Given the description of an element on the screen output the (x, y) to click on. 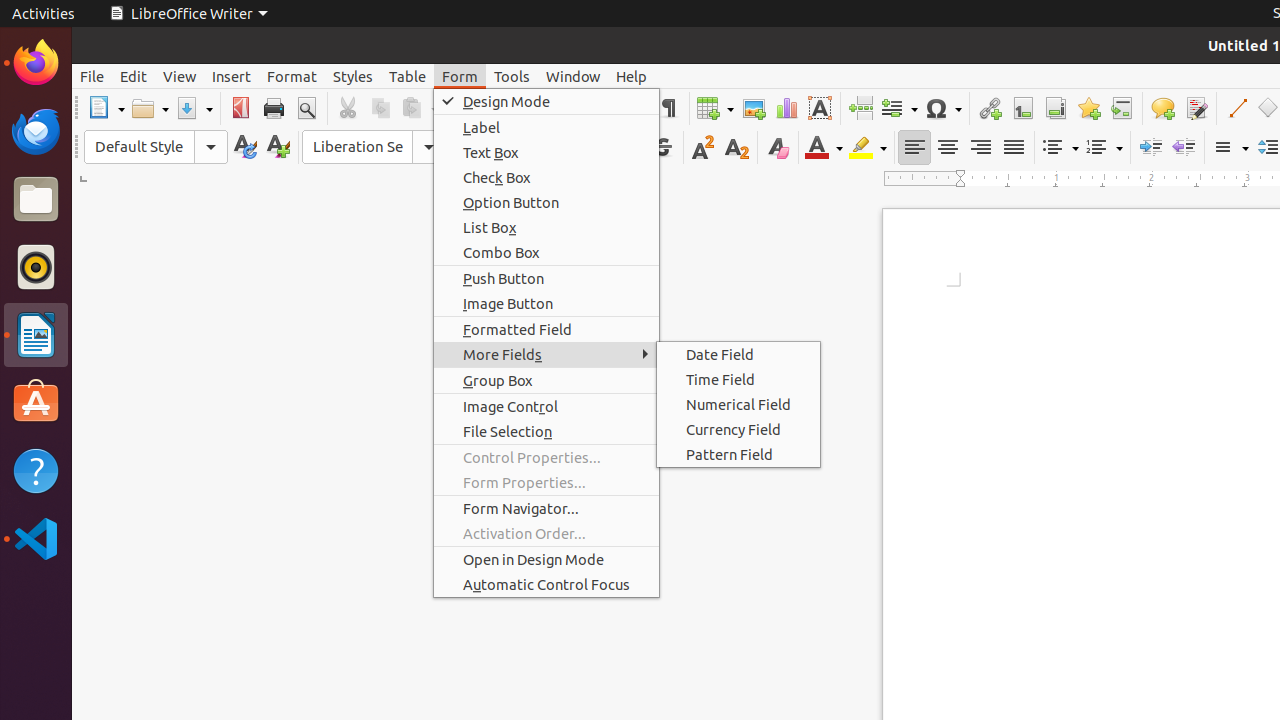
Footnote Element type: push-button (1022, 108)
Clone Element type: push-button (465, 108)
List Box Element type: check-menu-item (546, 227)
Activation Order... Element type: menu-item (546, 533)
LibreOffice Writer Element type: menu (188, 13)
